Given the description of an element on the screen output the (x, y) to click on. 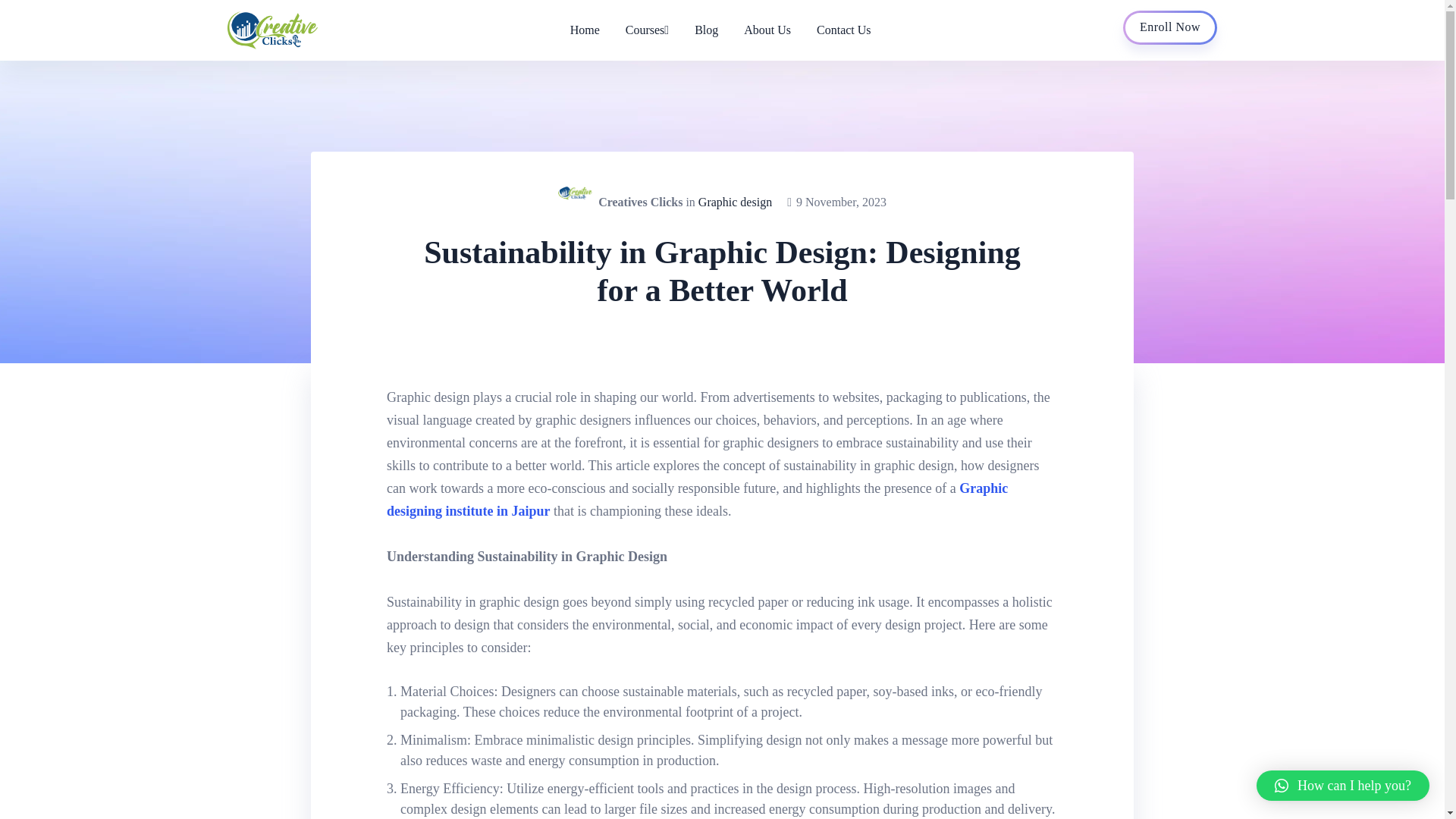
Creatives Clicks (640, 202)
Contact Us (836, 30)
Enroll Now (1169, 27)
About Us (766, 30)
Graphic design (734, 202)
Courses (646, 30)
Graphic designing institute in Jaipur (697, 499)
